Given the description of an element on the screen output the (x, y) to click on. 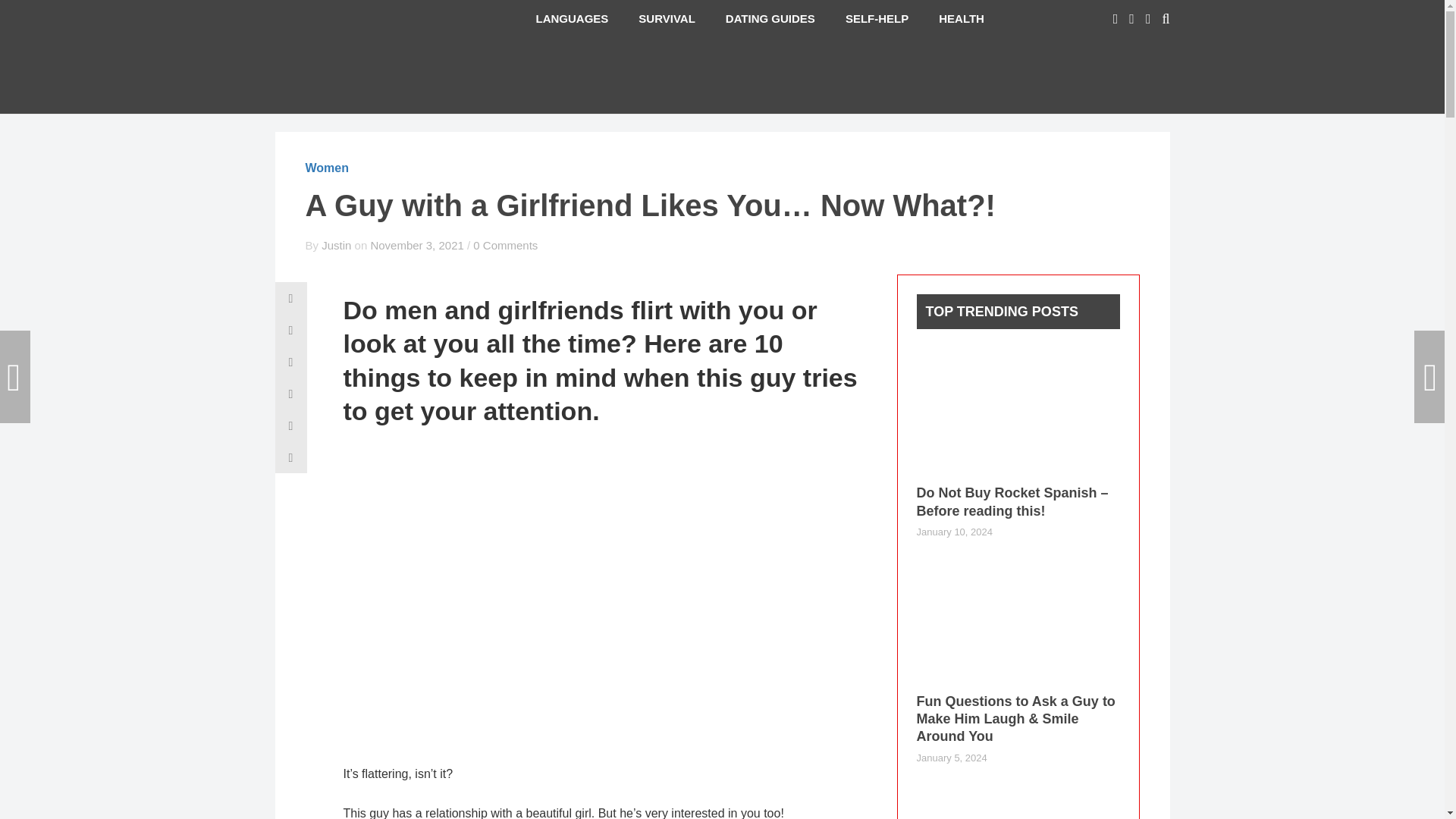
DATING GUIDES (769, 18)
SURVIVAL (666, 18)
LANGUAGES (571, 18)
SELF-HELP (876, 18)
